Given the description of an element on the screen output the (x, y) to click on. 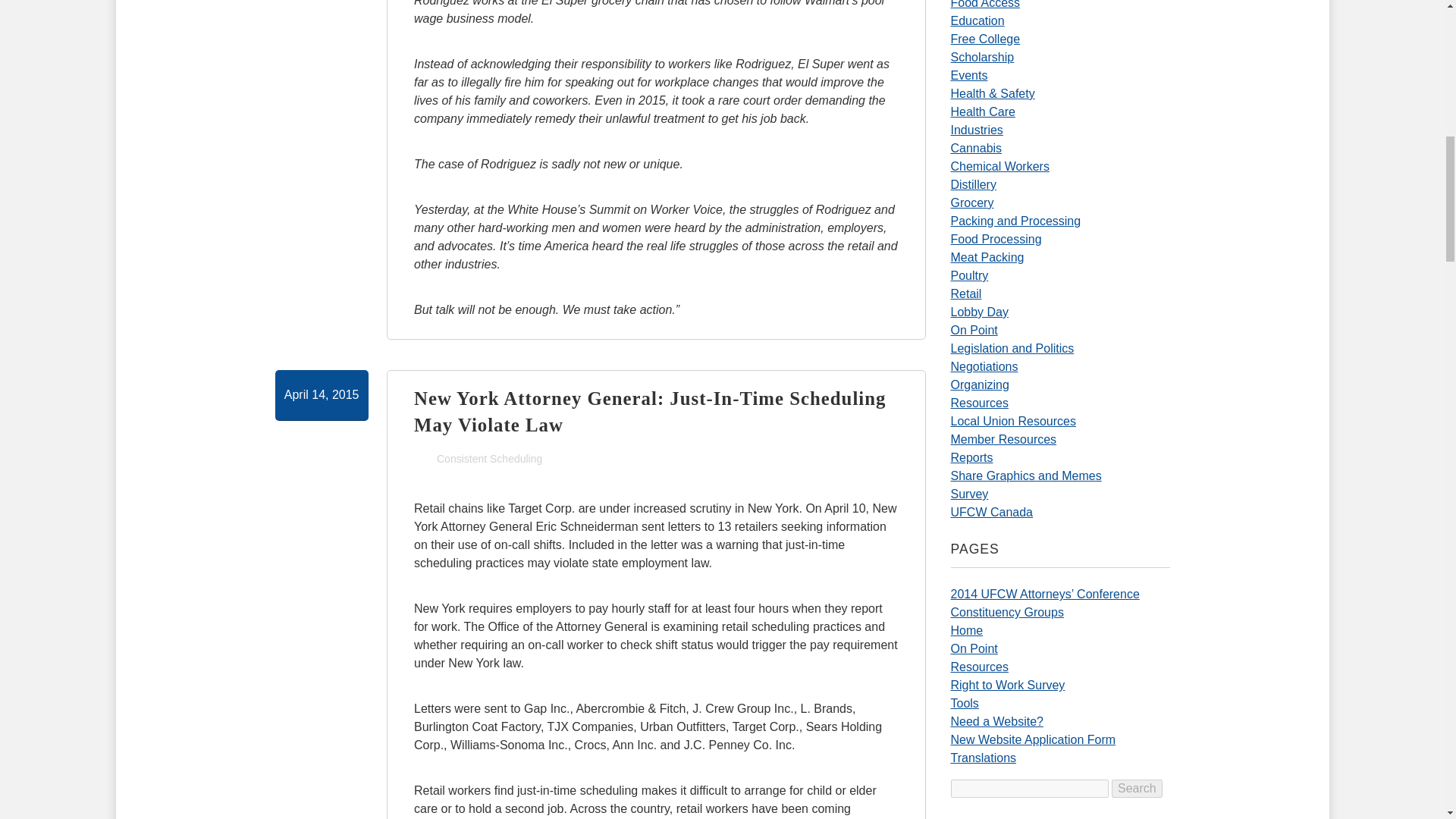
Events (969, 74)
Search (1136, 788)
Free College (985, 38)
Health Care (982, 111)
Education (977, 20)
Scholarship (982, 56)
Cannabis (976, 147)
Industries (976, 129)
Consistent Scheduling (488, 458)
Food Access (985, 4)
